Given the description of an element on the screen output the (x, y) to click on. 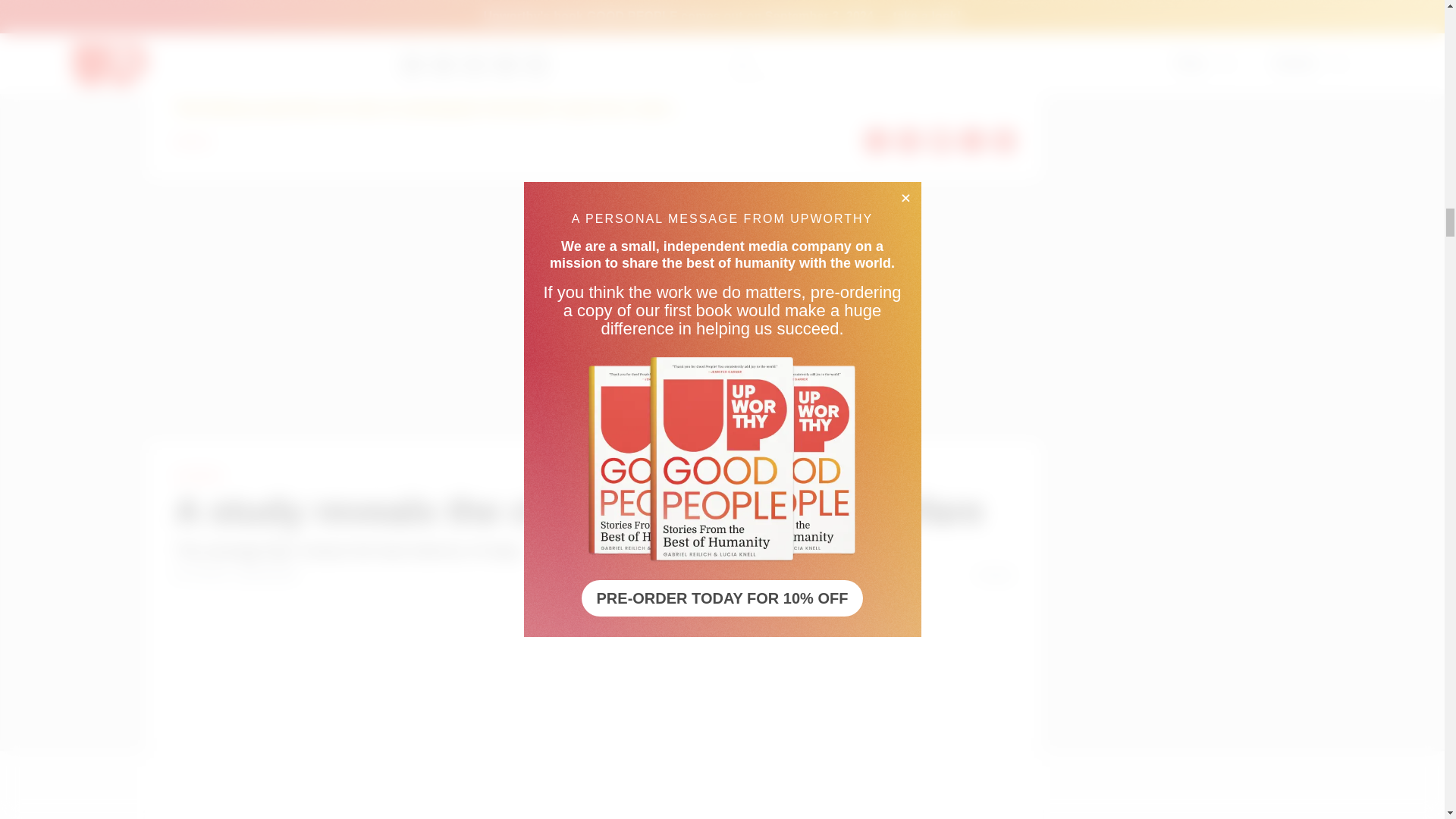
Copy this link to clipboard (1003, 140)
